Given the description of an element on the screen output the (x, y) to click on. 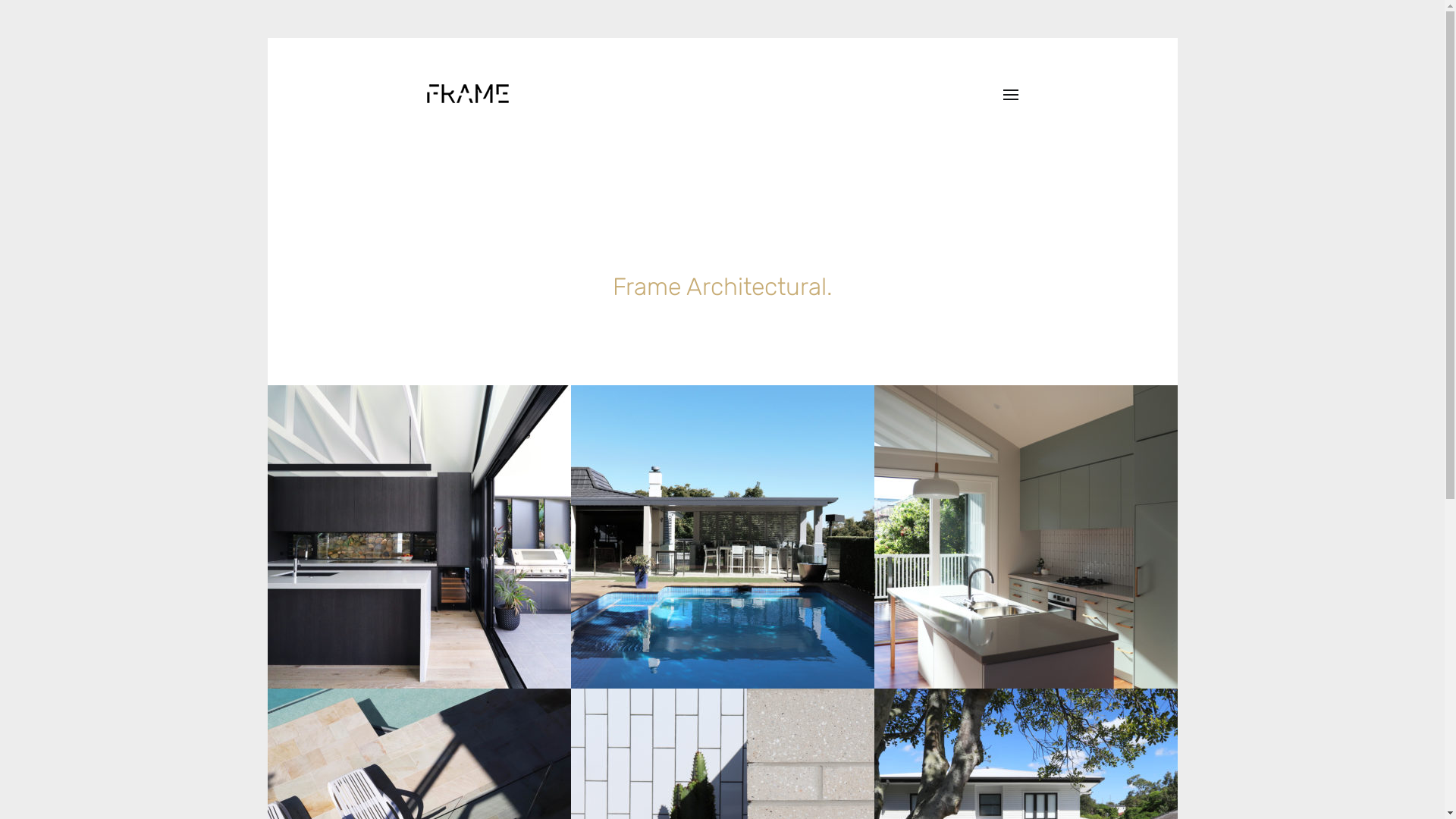
Frame Architectural Element type: hover (467, 93)
